Given the description of an element on the screen output the (x, y) to click on. 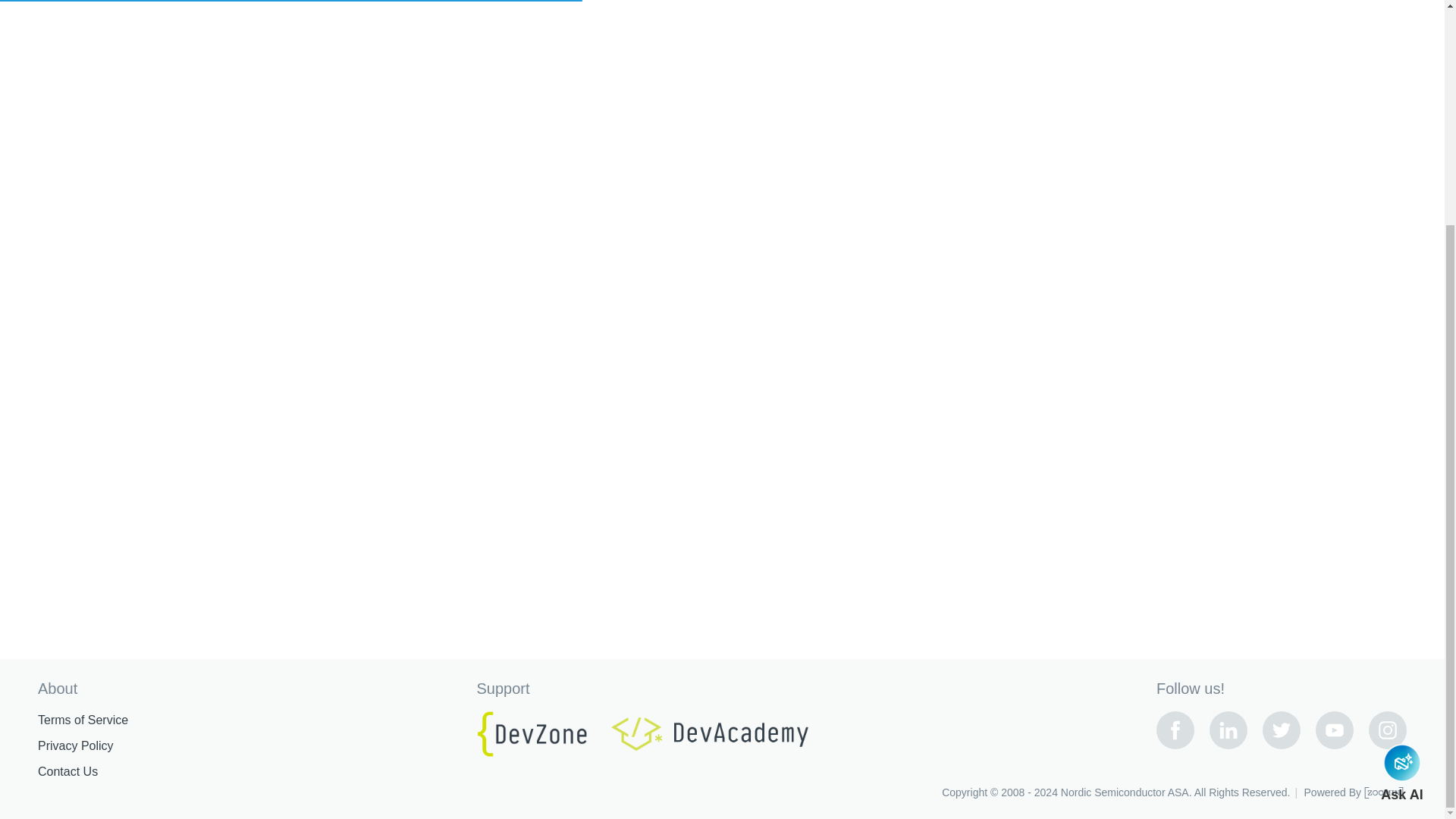
Contact Us (67, 771)
Privacy Policy (75, 746)
Ask AI (1401, 472)
Terms of Service (82, 720)
